Given the description of an element on the screen output the (x, y) to click on. 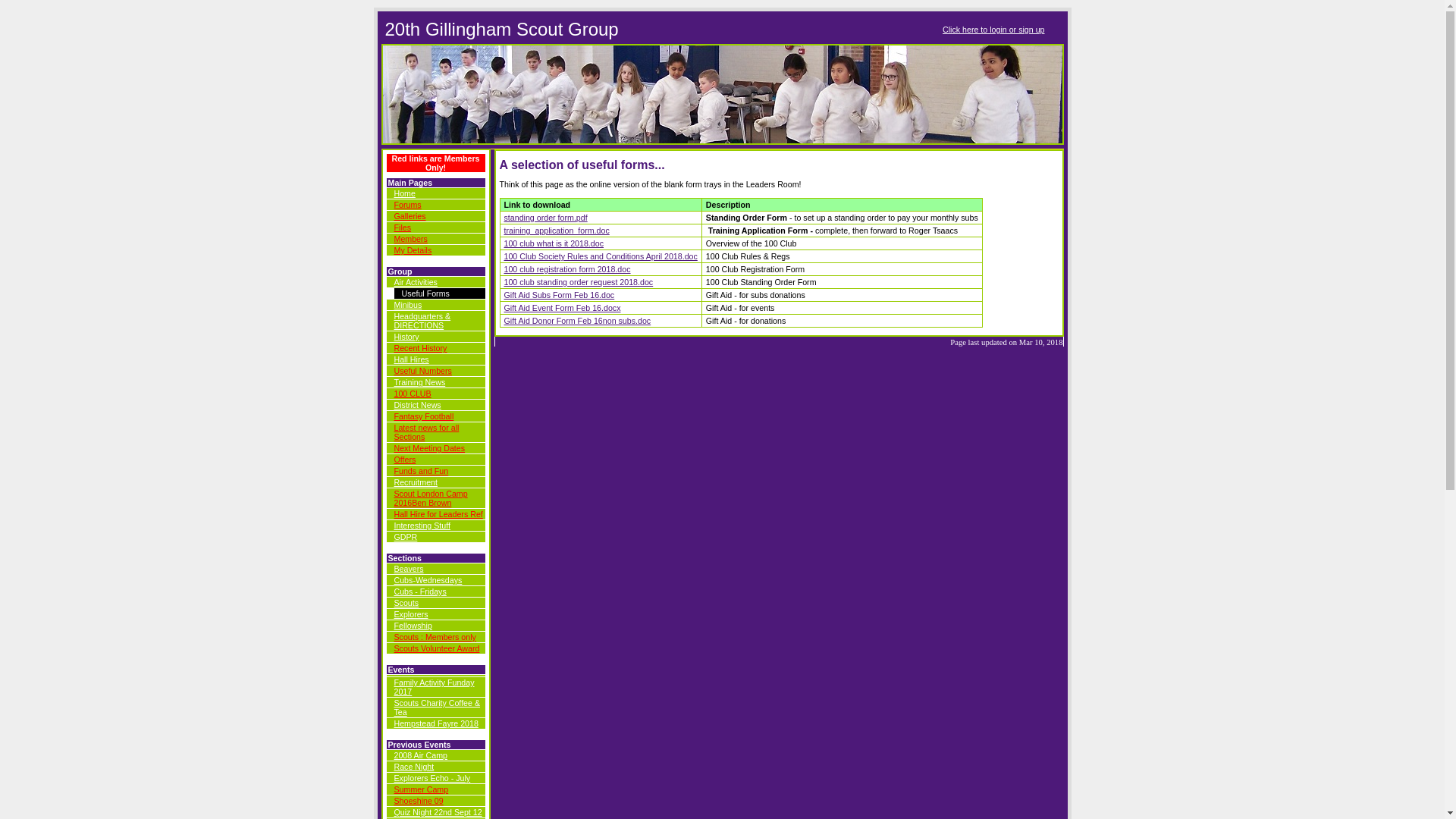
Next Meeting Dates Element type: text (429, 447)
Scouts Charity Coffee & Tea Element type: text (437, 707)
Galleries Element type: text (410, 215)
Quiz Night 22nd Sept 12 Element type: text (438, 811)
100 club standing order request 2018.doc Element type: text (577, 281)
2008 Air Camp Element type: text (421, 754)
Scouts : Members only Element type: text (435, 636)
Hall Hires Element type: text (411, 359)
Forums Element type: text (407, 204)
Fellowship Element type: text (413, 625)
Race Night Element type: text (414, 766)
Interesting Stuff Element type: text (422, 525)
GDPR Element type: text (405, 536)
Click here to login or sign up Element type: text (993, 29)
Family Activity Funday 2017 Element type: text (434, 686)
Recent History Element type: text (420, 347)
Headquarters & DIRECTIONS Element type: text (422, 320)
Scouts Volunteer Award Element type: text (437, 647)
Latest news for all Sections Element type: text (426, 432)
Fantasy Football Element type: text (424, 415)
100 club registration form 2018.doc Element type: text (566, 268)
100 club what is it 2018.doc Element type: text (553, 242)
Members Element type: text (410, 238)
Funds and Fun Element type: text (421, 470)
Cubs-Wednesdays Element type: text (428, 579)
standing order form.pdf Element type: text (544, 217)
Files Element type: text (402, 227)
Gift Aid Donor Form Feb 16non subs.doc Element type: text (576, 320)
Useful Numbers Element type: text (422, 370)
Gift Aid Subs Form Feb 16.doc Element type: text (558, 294)
Scouts Element type: text (406, 602)
Minibus Element type: text (408, 304)
Home Element type: text (404, 192)
Gift Aid Event Form Feb 16.docx Element type: text (561, 307)
Explorers Element type: text (411, 613)
Shoeshine 09 Element type: text (418, 800)
100 Club Society Rules and Conditions April 2018.doc Element type: text (599, 255)
District News Element type: text (417, 404)
Scout London Camp 2016Ben Brown Element type: text (430, 498)
100 CLUB Element type: text (412, 393)
My Details Element type: text (413, 249)
Beavers Element type: text (408, 568)
Offers Element type: text (405, 459)
Explorers Echo - July Element type: text (432, 777)
Air Activities Element type: text (415, 281)
Hempstead Fayre 2018 Element type: text (436, 723)
training_application_form.doc Element type: text (555, 230)
Cubs - Fridays Element type: text (420, 591)
Hall Hire for Leaders Ref Element type: text (438, 513)
Summer Camp Element type: text (421, 788)
Training News Element type: text (419, 381)
Recruitment Element type: text (415, 481)
History Element type: text (406, 336)
